Given the description of an element on the screen output the (x, y) to click on. 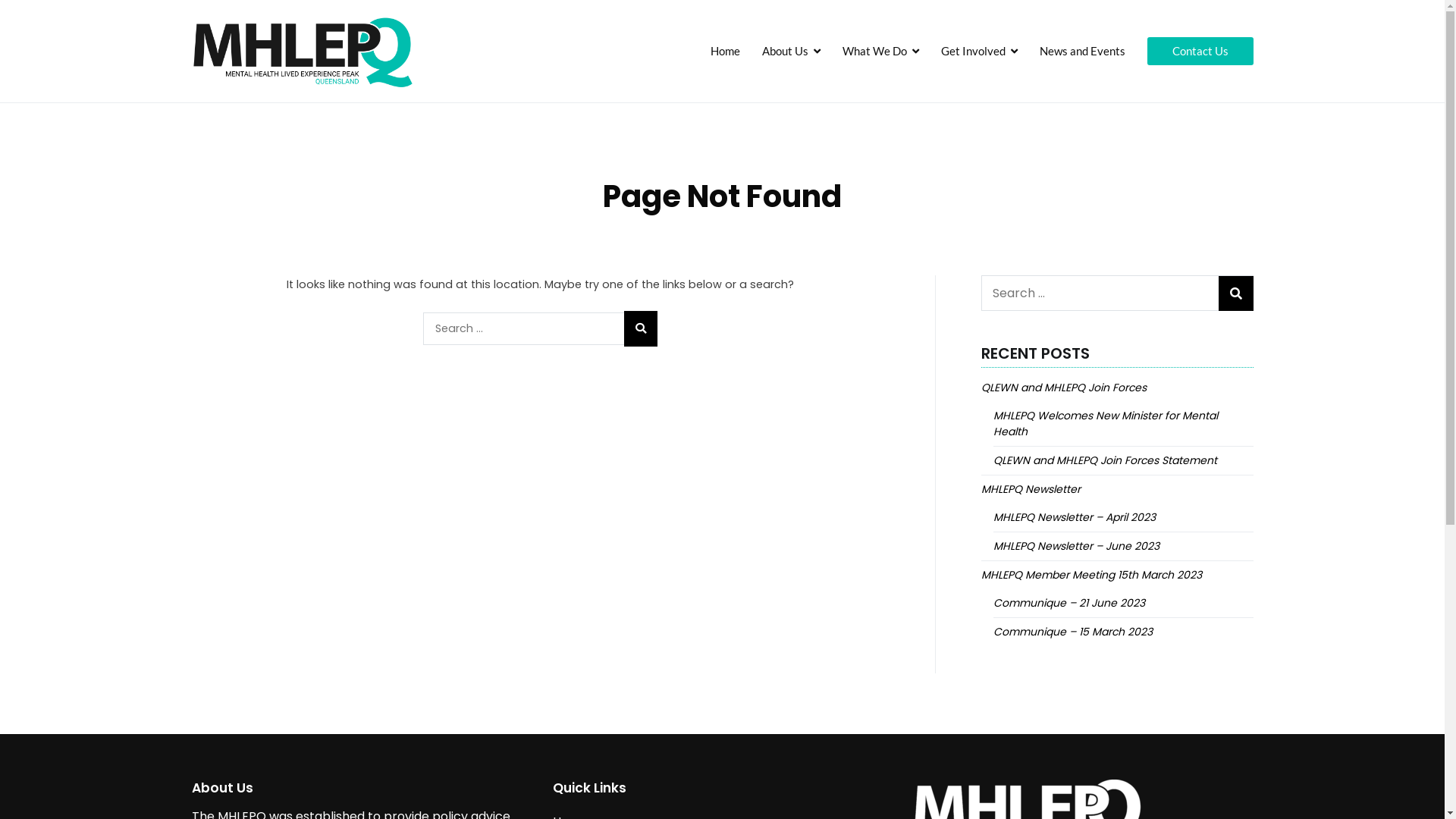
MHLEPQ Welcomes New Minister for Mental Health Element type: text (1123, 423)
QLEWN and MHLEPQ Join Forces Element type: text (1063, 387)
About Us Element type: text (791, 50)
MHLEPQ Member Meeting 15th March 2023 Element type: text (1091, 575)
Get Involved Element type: text (979, 50)
Search Element type: text (29, 15)
Home Element type: text (725, 50)
QLEWN and MHLEPQ Join Forces Statement Element type: text (1105, 460)
MHLEPQ Element type: text (463, 61)
News and Events Element type: text (1082, 50)
What We Do Element type: text (880, 50)
Search Element type: text (32, 17)
Contact Us Element type: text (1199, 51)
MHLEPQ Newsletter Element type: text (1030, 489)
